Given the description of an element on the screen output the (x, y) to click on. 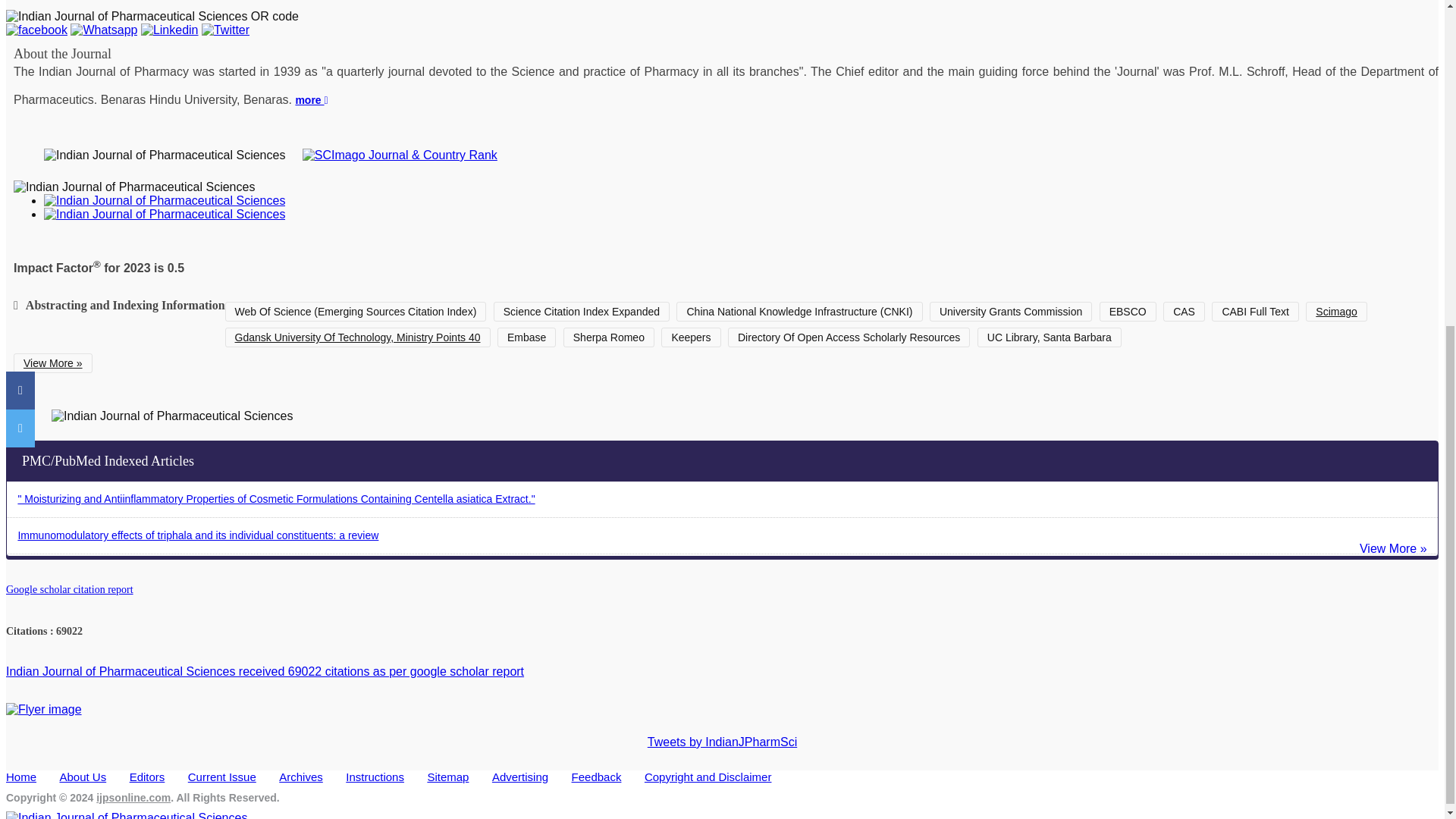
Science Citation Index Expanded (581, 311)
more (311, 100)
CAS (1184, 311)
University Grants Commission (1011, 311)
QR (151, 16)
EBSCO (1127, 311)
CABI Full Text (1254, 311)
Scimago (1336, 311)
